Given the description of an element on the screen output the (x, y) to click on. 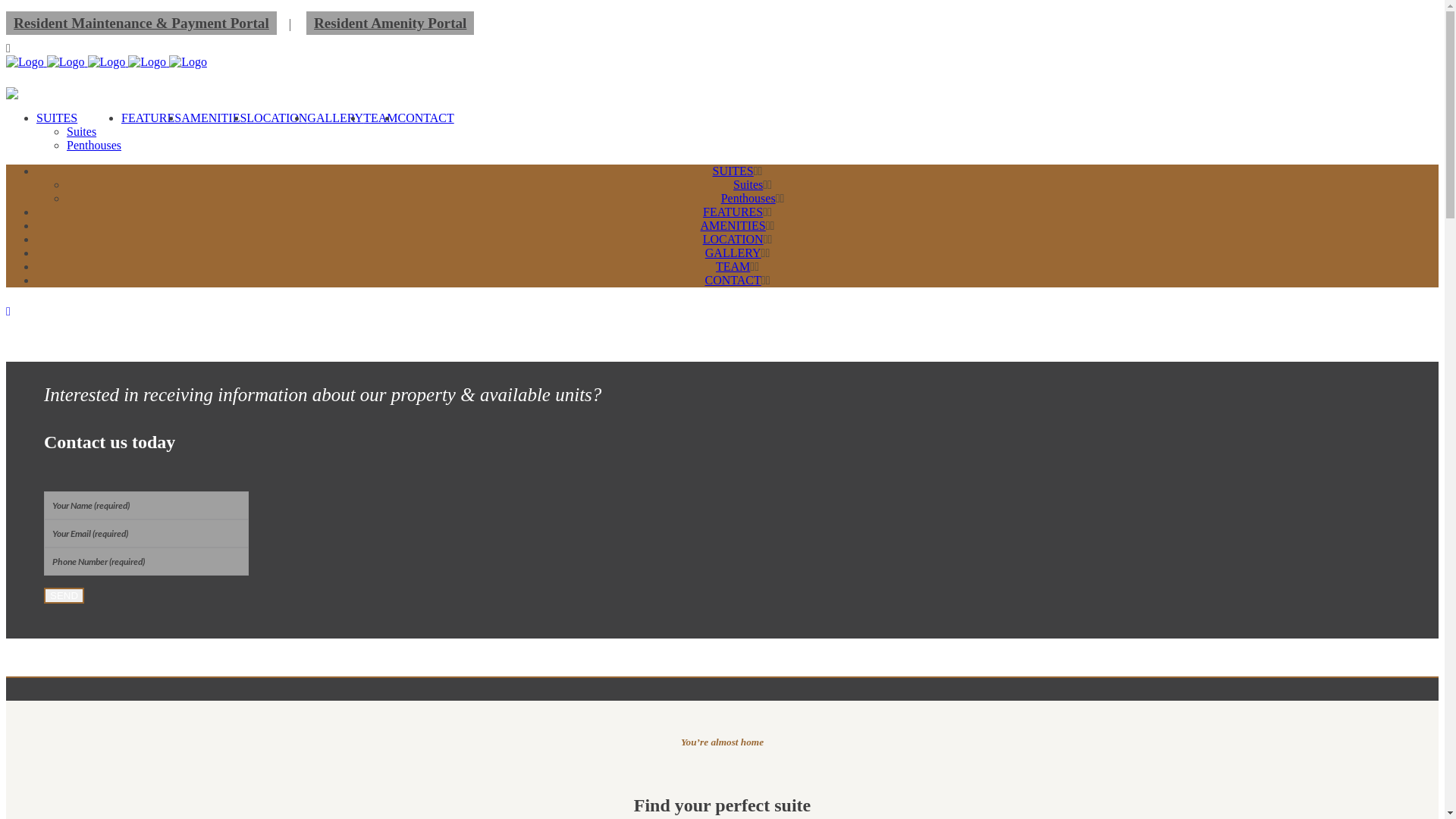
LOCATION Element type: text (732, 238)
TEAM Element type: text (732, 266)
SUITES Element type: text (56, 117)
GALLERY Element type: text (733, 252)
TEAM Element type: text (380, 117)
CONTACT Element type: text (733, 279)
Suites Element type: text (747, 184)
Resident Amenity Portal Element type: text (389, 22)
SEND Element type: text (63, 595)
CONTACT Element type: text (425, 117)
FEATURES Element type: text (151, 117)
Resident Maintenance & Payment Portal Element type: text (141, 22)
LOCATION Element type: text (276, 117)
Penthouses Element type: text (93, 144)
Suites Element type: text (81, 131)
Penthouses Element type: text (748, 197)
GALLERY Element type: text (335, 117)
AMENITIES Element type: text (732, 225)
FEATURES Element type: text (732, 211)
AMENITIES Element type: text (213, 117)
SUITES Element type: text (732, 170)
